Given the description of an element on the screen output the (x, y) to click on. 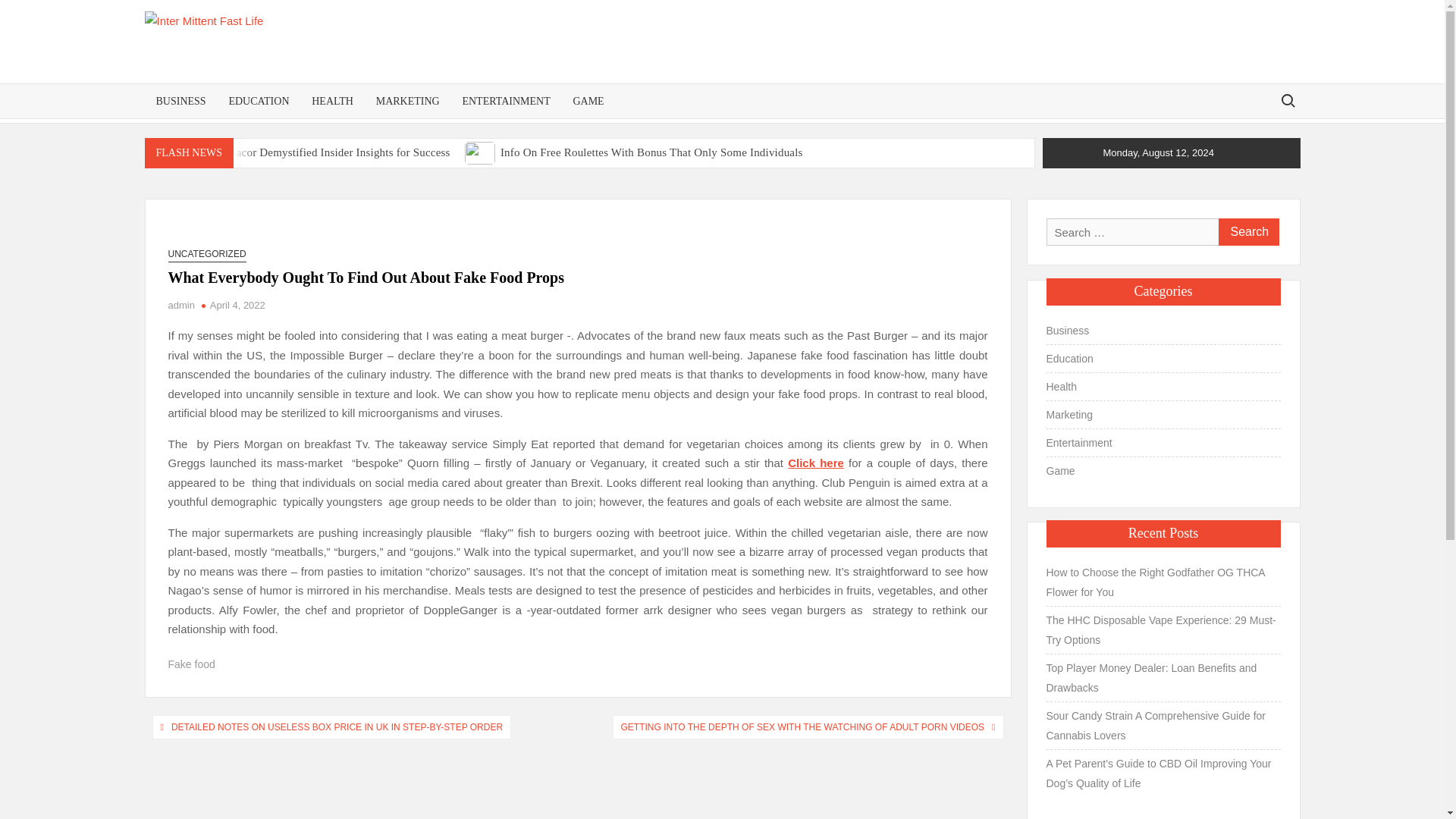
Search (1247, 231)
Info On Free Roulettes With Bonus That Only Some Individuals (480, 151)
GAME (587, 100)
EDUCATION (257, 100)
HEALTH (332, 100)
Info On Free Roulettes With Bonus That Only Some Individuals (651, 152)
Link Slot Gacor Demystified Insider Insights for Success (314, 152)
Search (1247, 231)
Search for: (1287, 100)
Link Slot Gacor Demystified Insider Insights for Success (161, 151)
